Given the description of an element on the screen output the (x, y) to click on. 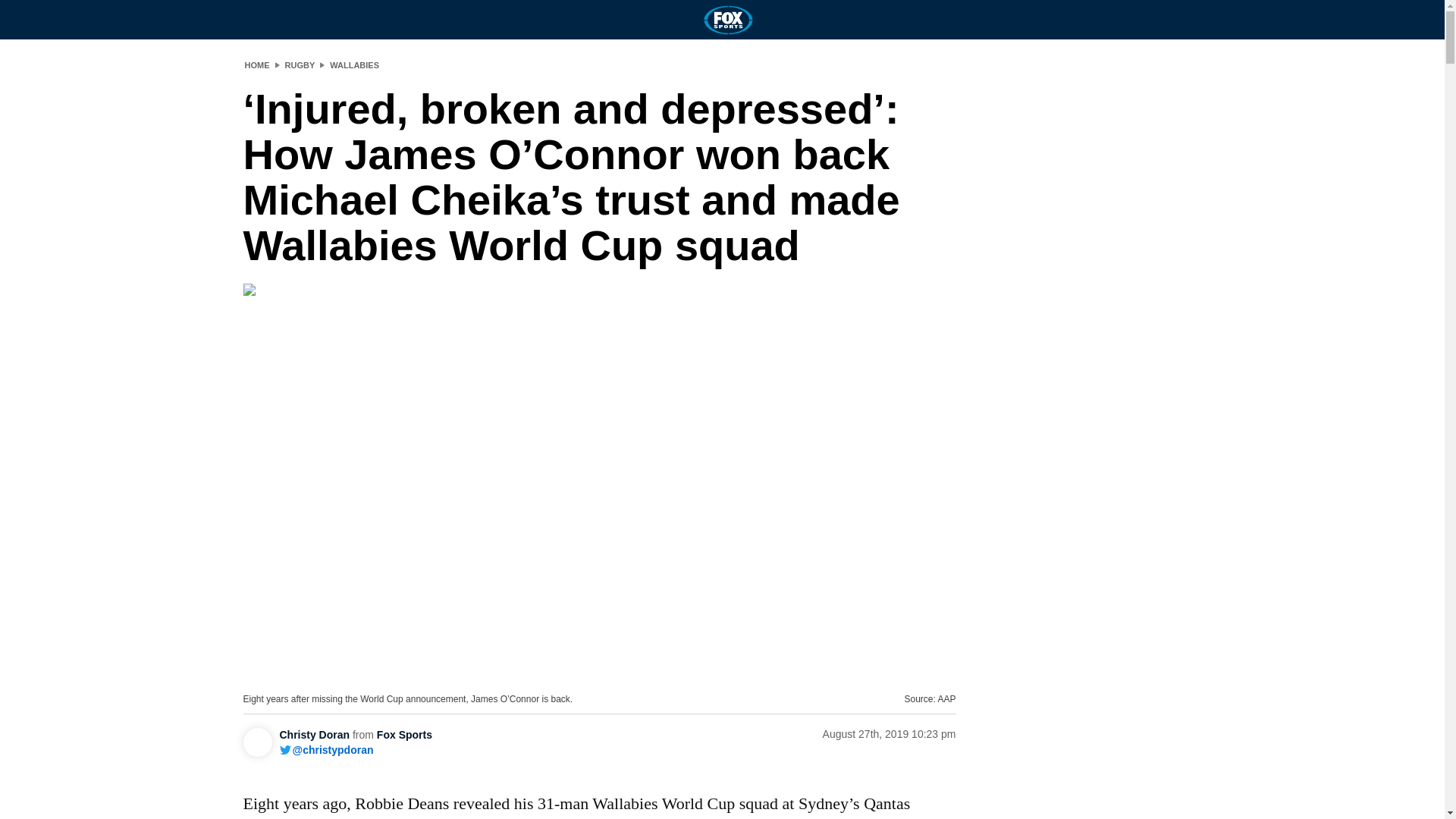
RUGBY (300, 64)
WALLABIES (354, 64)
HOME (256, 64)
